Given the description of an element on the screen output the (x, y) to click on. 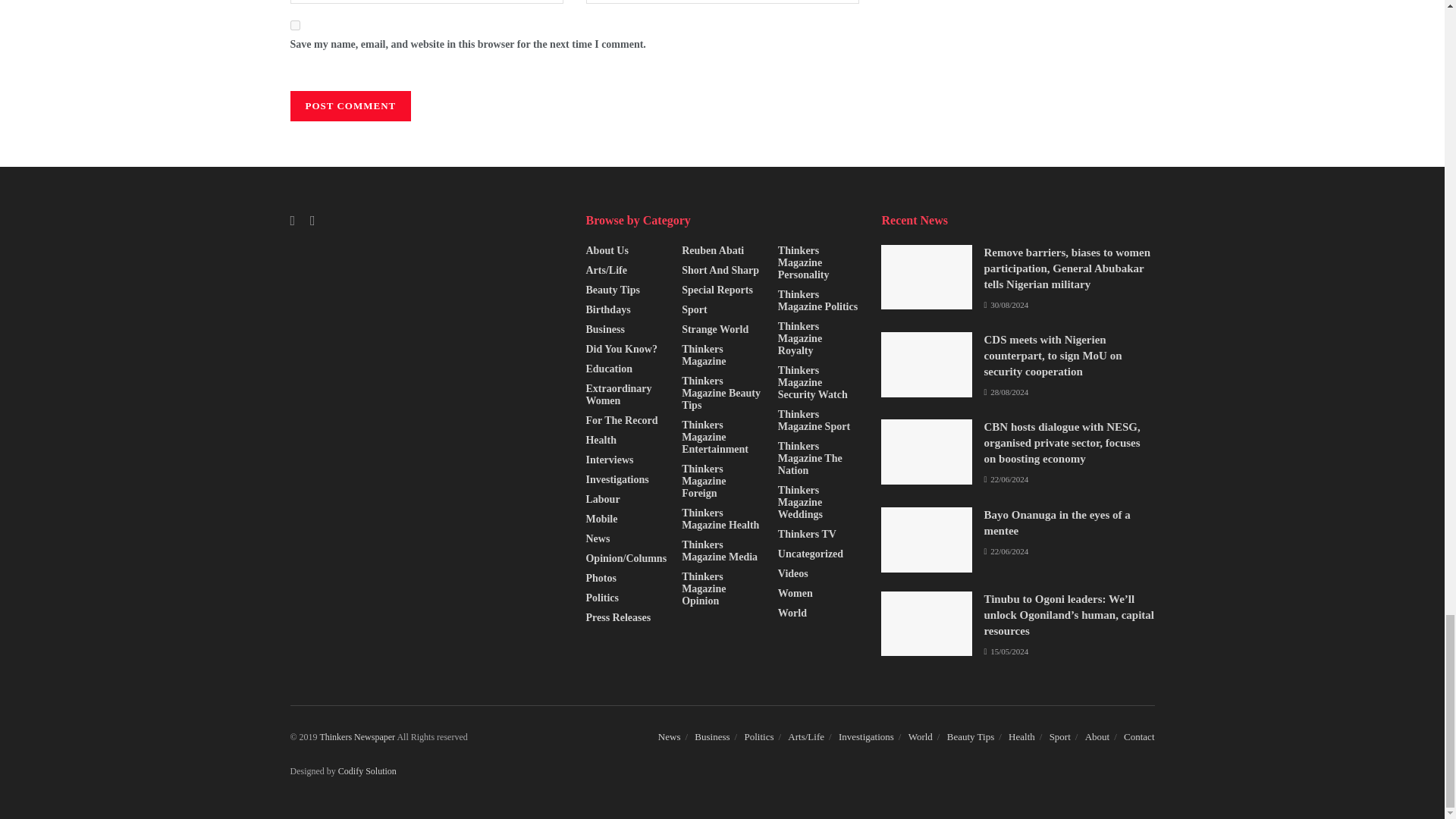
yes (294, 25)
Top News Site (357, 737)
Post Comment (349, 105)
